Given the description of an element on the screen output the (x, y) to click on. 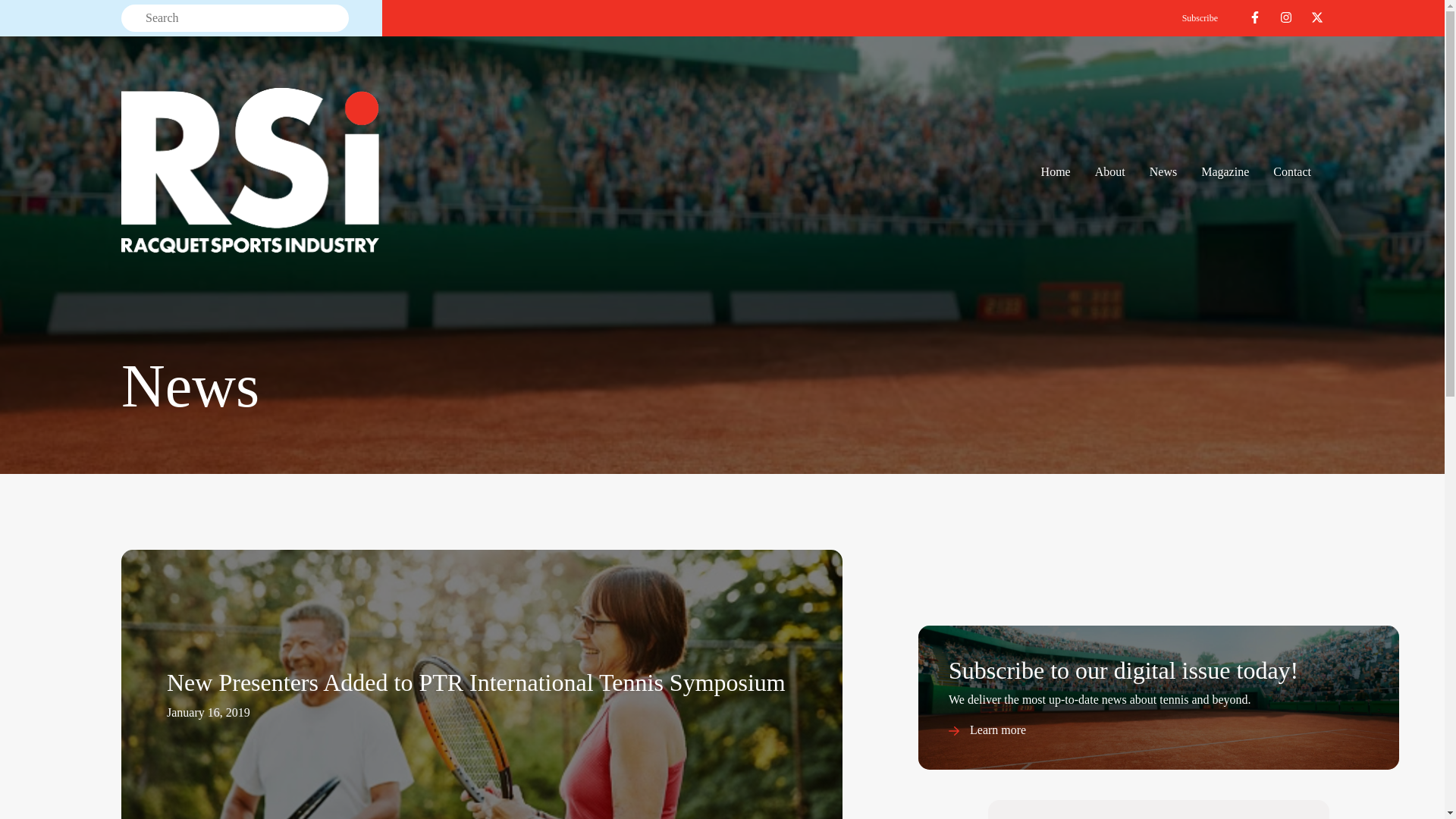
About (1110, 172)
Home (1056, 172)
Magazine (1225, 172)
Learn more (987, 730)
News (1162, 172)
Contact (1291, 172)
Subscribe (1199, 18)
